Given the description of an element on the screen output the (x, y) to click on. 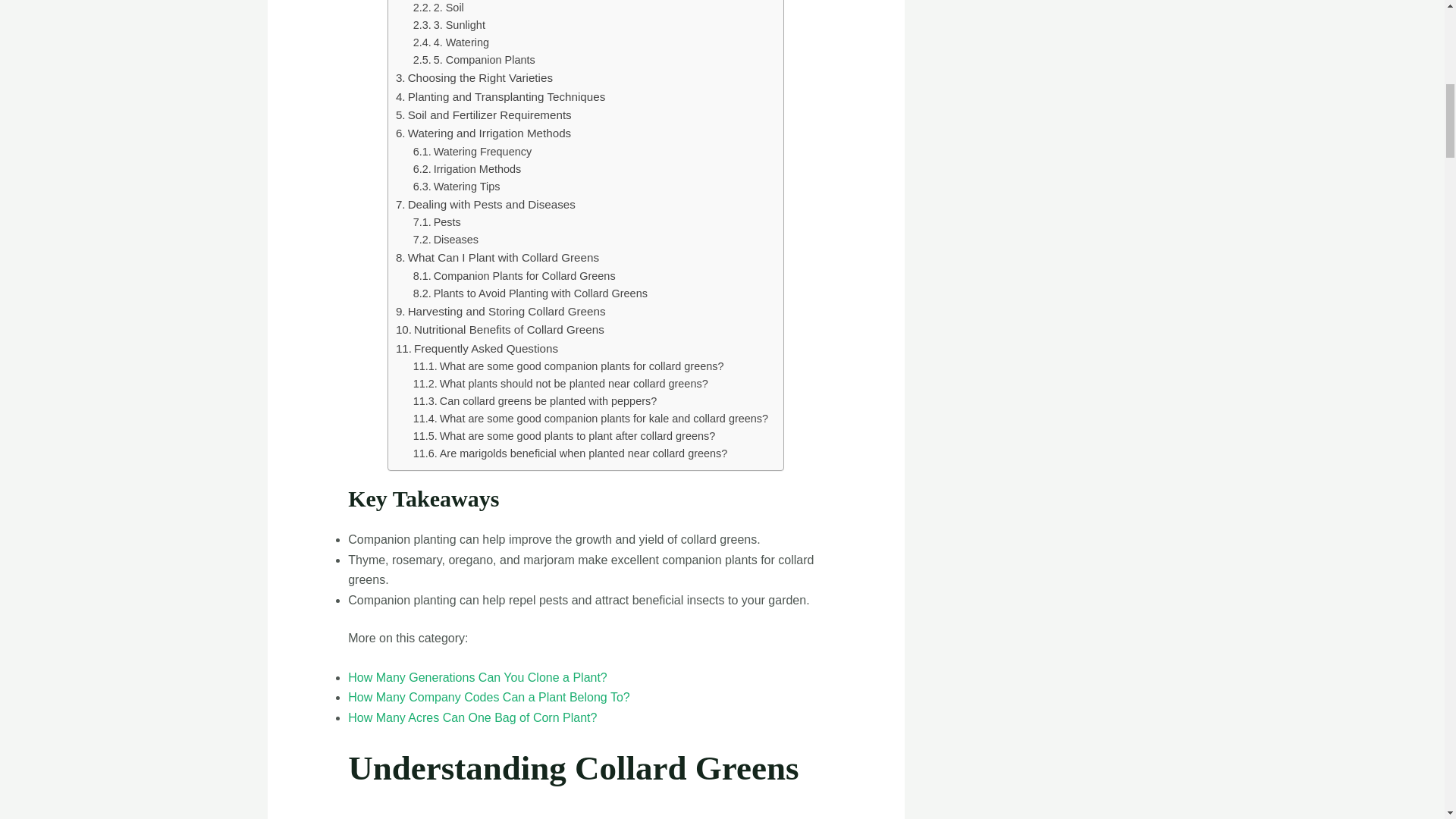
4. Watering (451, 42)
3. Sunlight (448, 25)
2. Soil (438, 8)
3. Sunlight (448, 25)
4. Watering (451, 42)
Planting and Transplanting Techniques (500, 96)
Choosing the Right Varieties (474, 77)
Choosing the Right Varieties (474, 77)
5. Companion Plants (474, 59)
Soil and Fertilizer Requirements (484, 115)
